Given the description of an element on the screen output the (x, y) to click on. 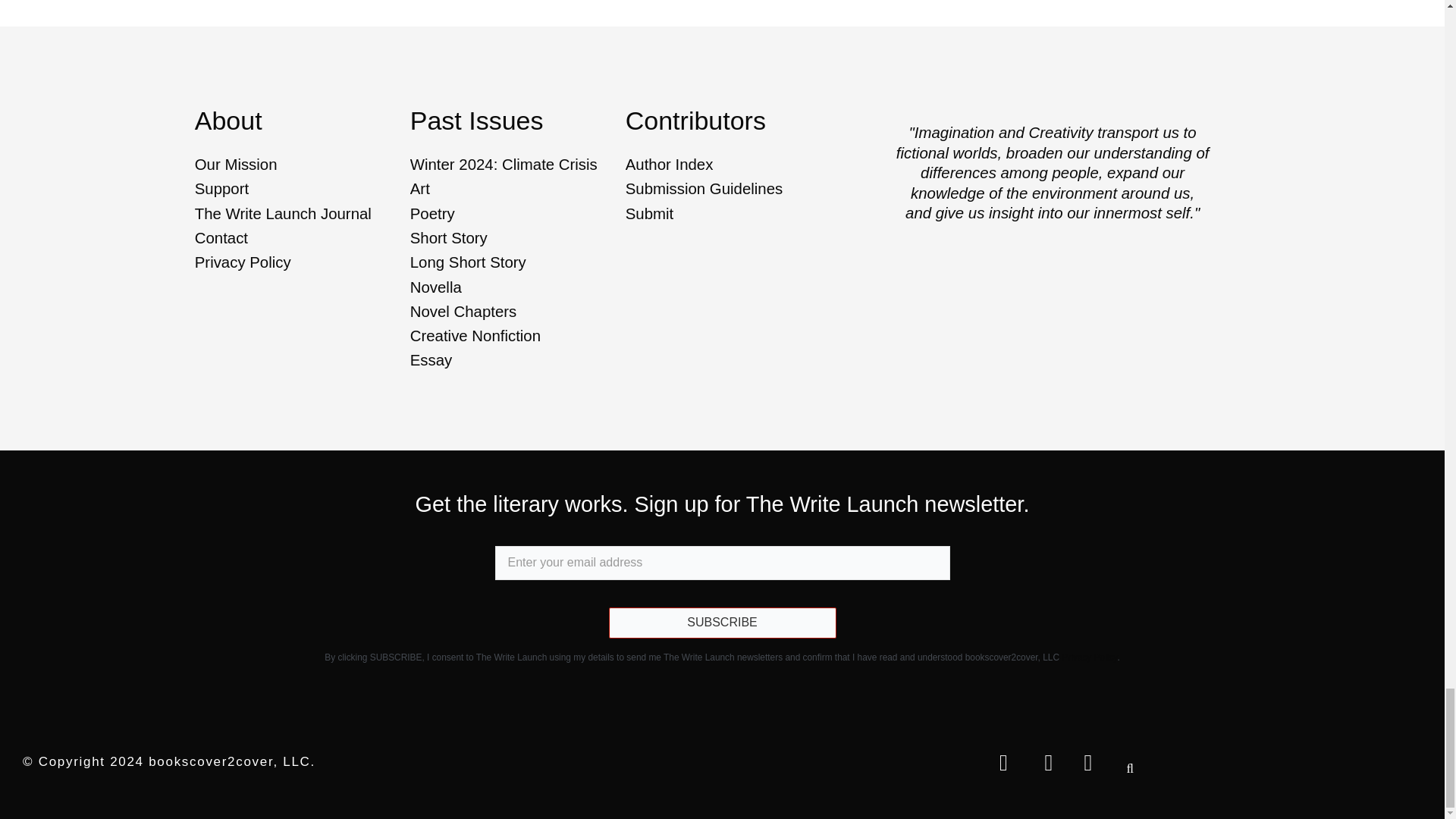
The Write Launch Journal (299, 213)
Our Mission (299, 165)
Support (299, 189)
Subscribe (721, 622)
Contact (299, 238)
